Given the description of an element on the screen output the (x, y) to click on. 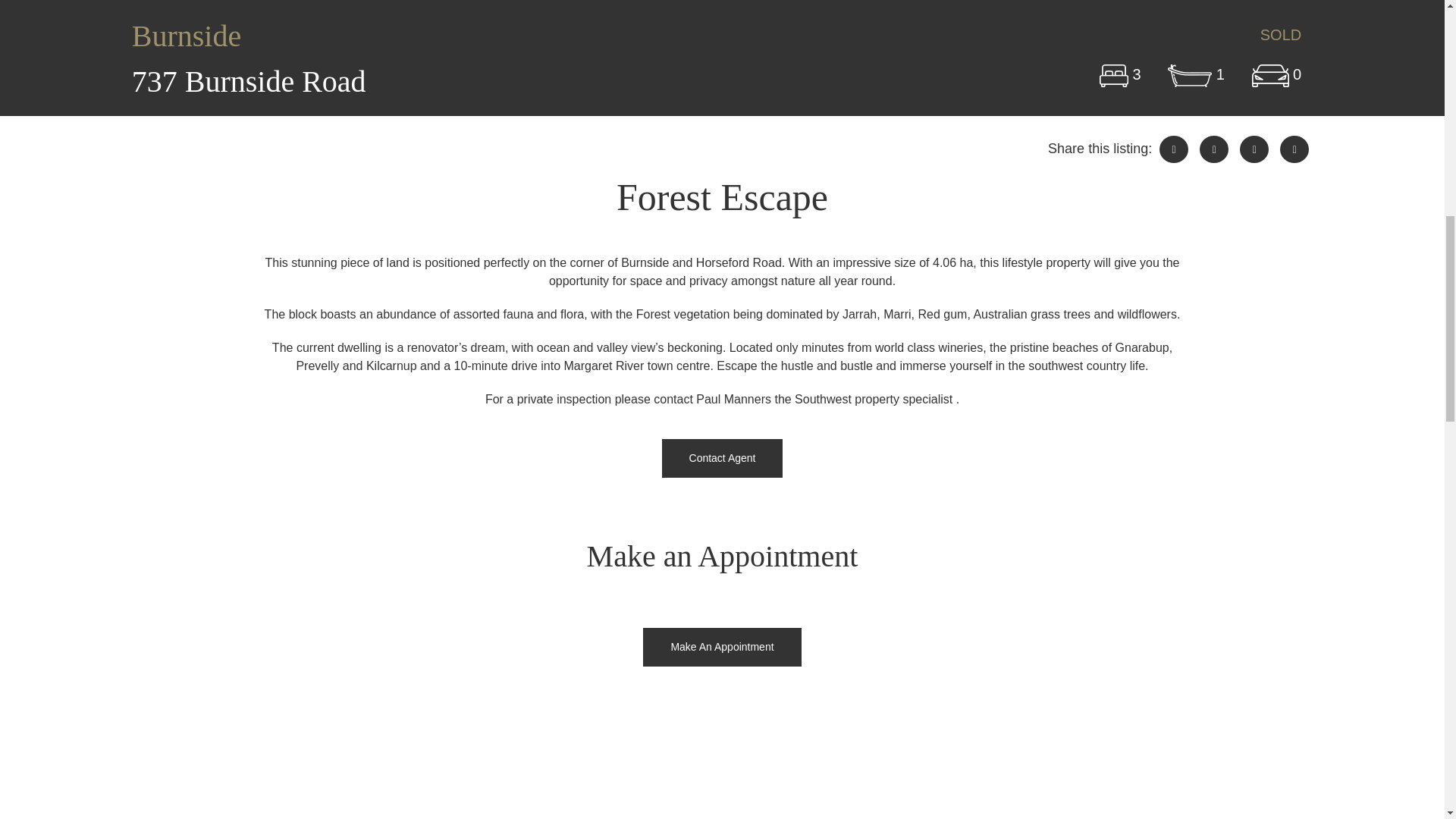
Contact Agent (722, 457)
Contact Agent (722, 457)
Make An Appointment (721, 647)
